Given the description of an element on the screen output the (x, y) to click on. 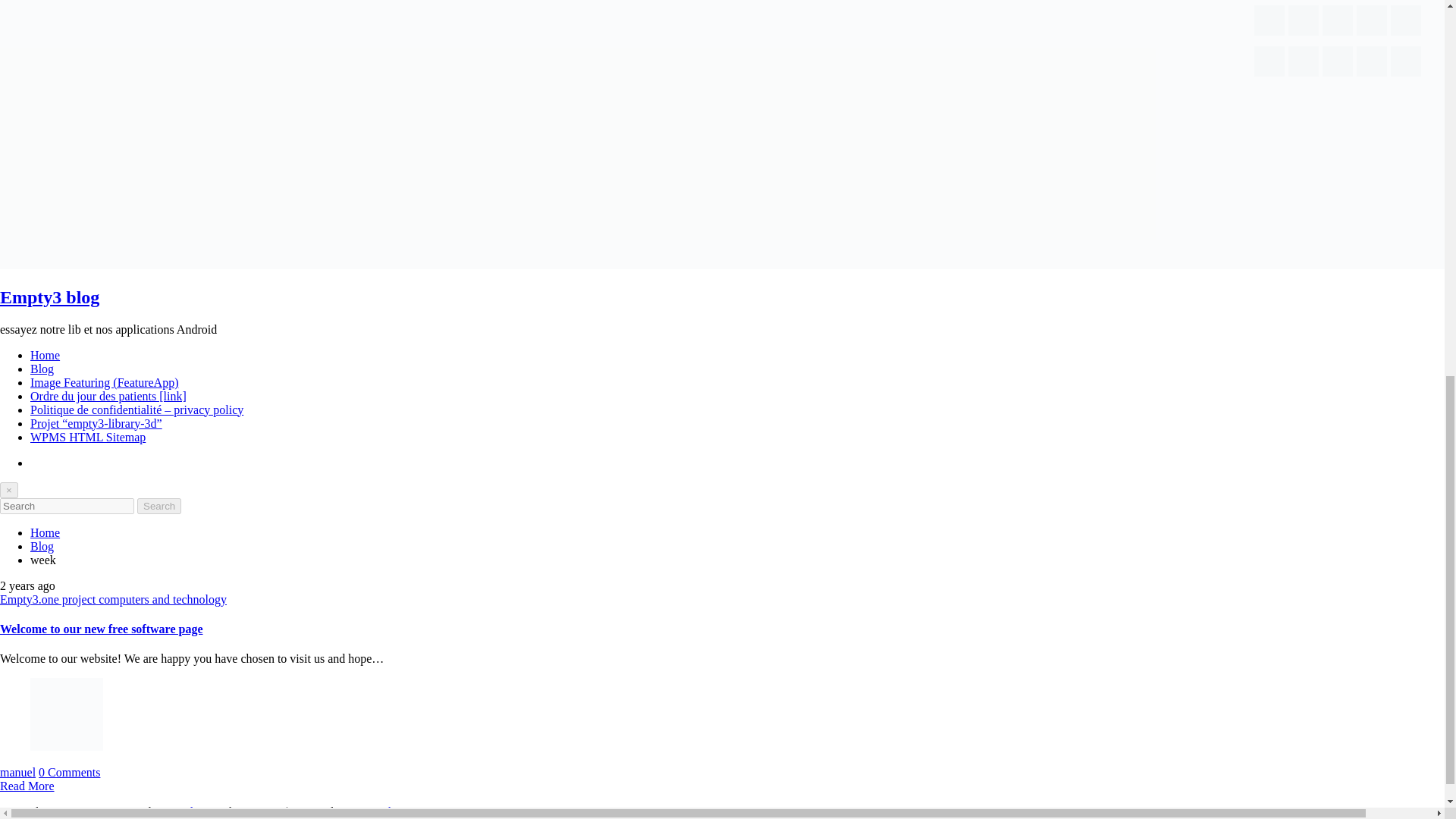
Empty3.one project computers and technology (113, 599)
Empty3 blog (49, 297)
Home (44, 354)
WPMS HTML Sitemap (87, 436)
Empty3 blog (49, 297)
SpiceThemes (386, 811)
Search (158, 505)
Blog (41, 368)
Welcome to our new free software page (101, 628)
Home (44, 532)
Empty3.one project computers and technology (113, 599)
Blog (41, 545)
Home (44, 354)
Search (158, 505)
0 Comments (69, 771)
